Given the description of an element on the screen output the (x, y) to click on. 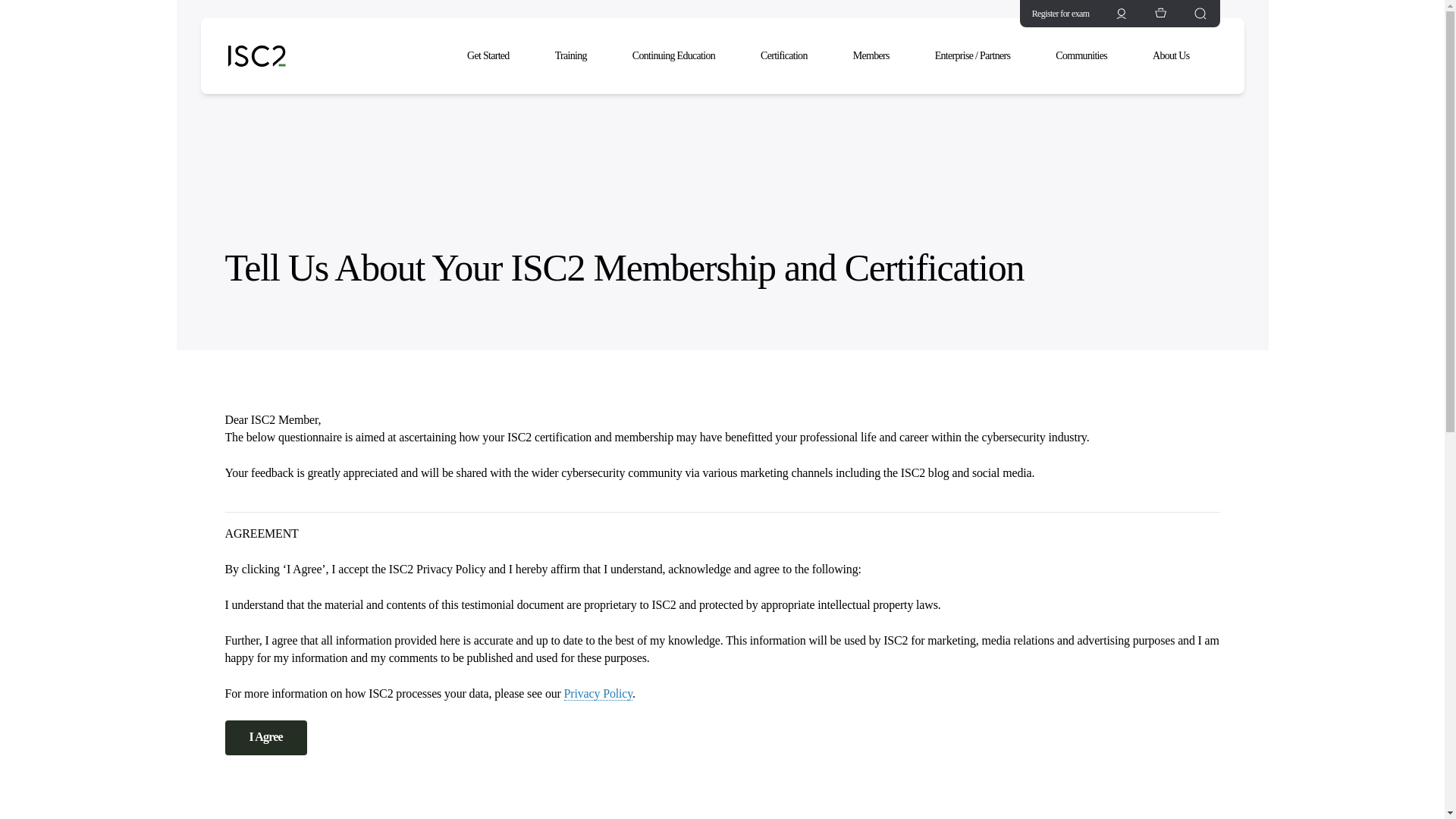
Continuing Education (681, 55)
Training (578, 55)
Members (879, 55)
I Agree (264, 737)
Register for exam (1054, 13)
Get Started (495, 55)
Privacy Policy (598, 694)
Certification (791, 55)
Register for exam (1054, 13)
